Given the description of an element on the screen output the (x, y) to click on. 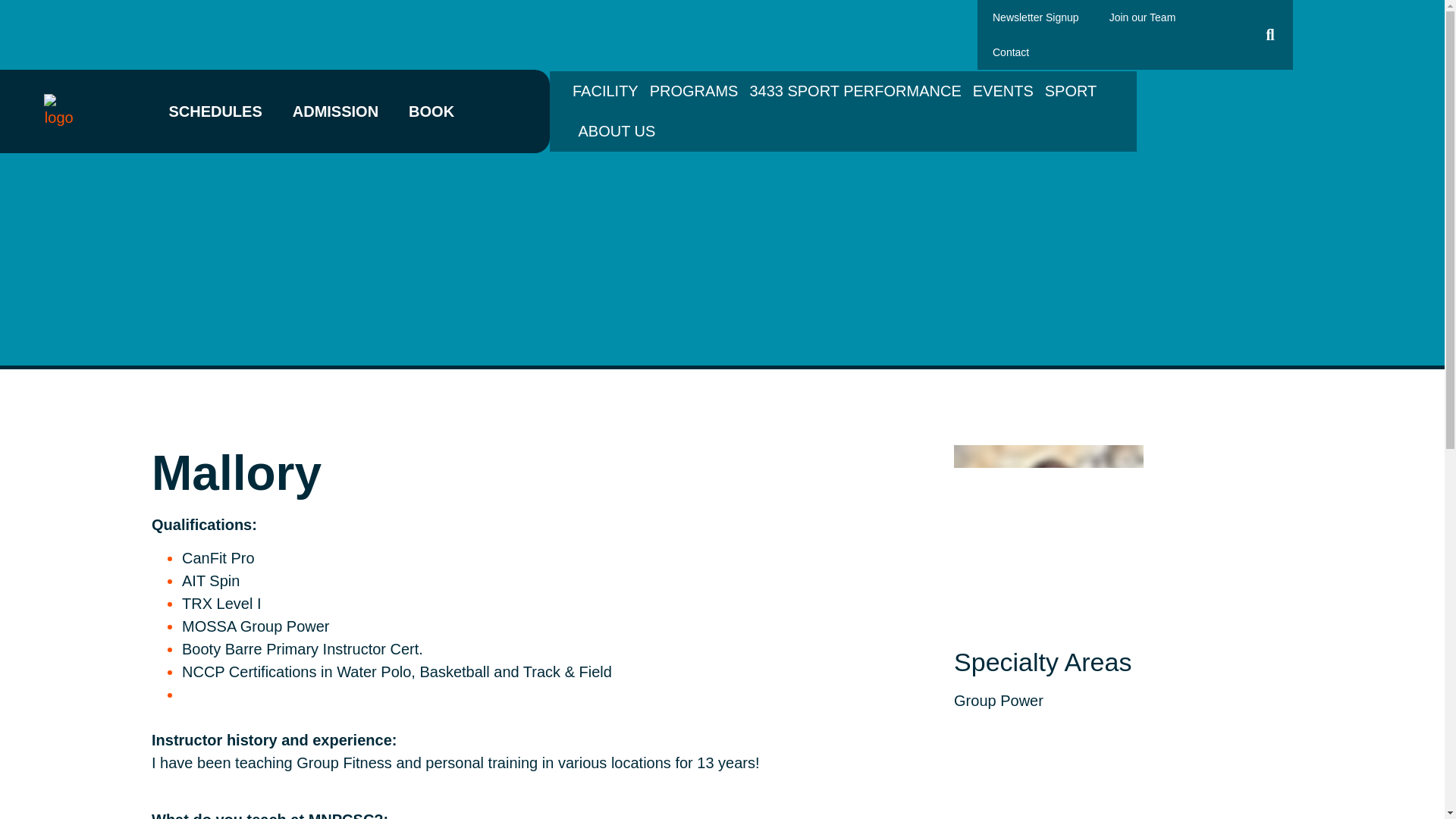
Join our Team (1142, 17)
BOOK (431, 110)
Newsletter Signup (1035, 17)
Contact (1009, 52)
SCHEDULES (215, 110)
ADMISSION (335, 110)
